Given the description of an element on the screen output the (x, y) to click on. 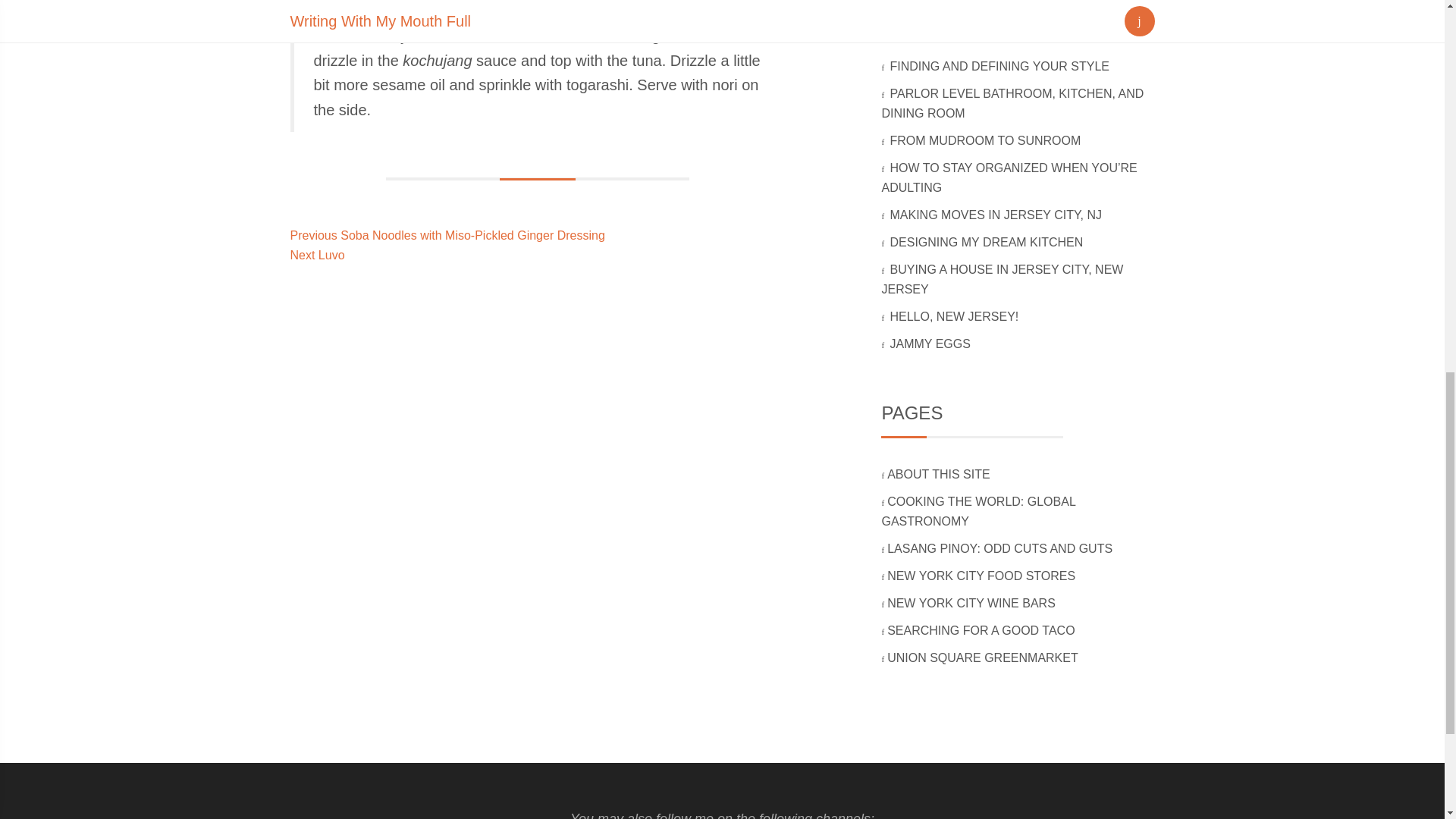
FROM MUDROOM TO SUNROOM (316, 254)
COOKING THE WORLD: GLOBAL GASTRONOMY (986, 140)
SEARCHING FOR A GOOD TACO (977, 511)
LASANG PINOY: ODD CUTS AND GUTS (981, 630)
JAMMY EGGS (1000, 548)
MAKING MOVES IN JERSEY CITY, NJ (930, 343)
FINDING AND DEFINING YOUR STYLE (996, 214)
HELLO, NEW JERSEY! (1000, 65)
NEW YORK CITY WINE BARS (954, 316)
DESIGNING MY DREAM KITCHEN (972, 603)
ABOUT THIS SITE (986, 241)
CIOPPINO WITH HARVEST OF THE SEA SEAFOOD MEDLEY (938, 473)
BUYING A HOUSE IN JERSEY CITY, NEW JERSEY (999, 29)
